Given the description of an element on the screen output the (x, y) to click on. 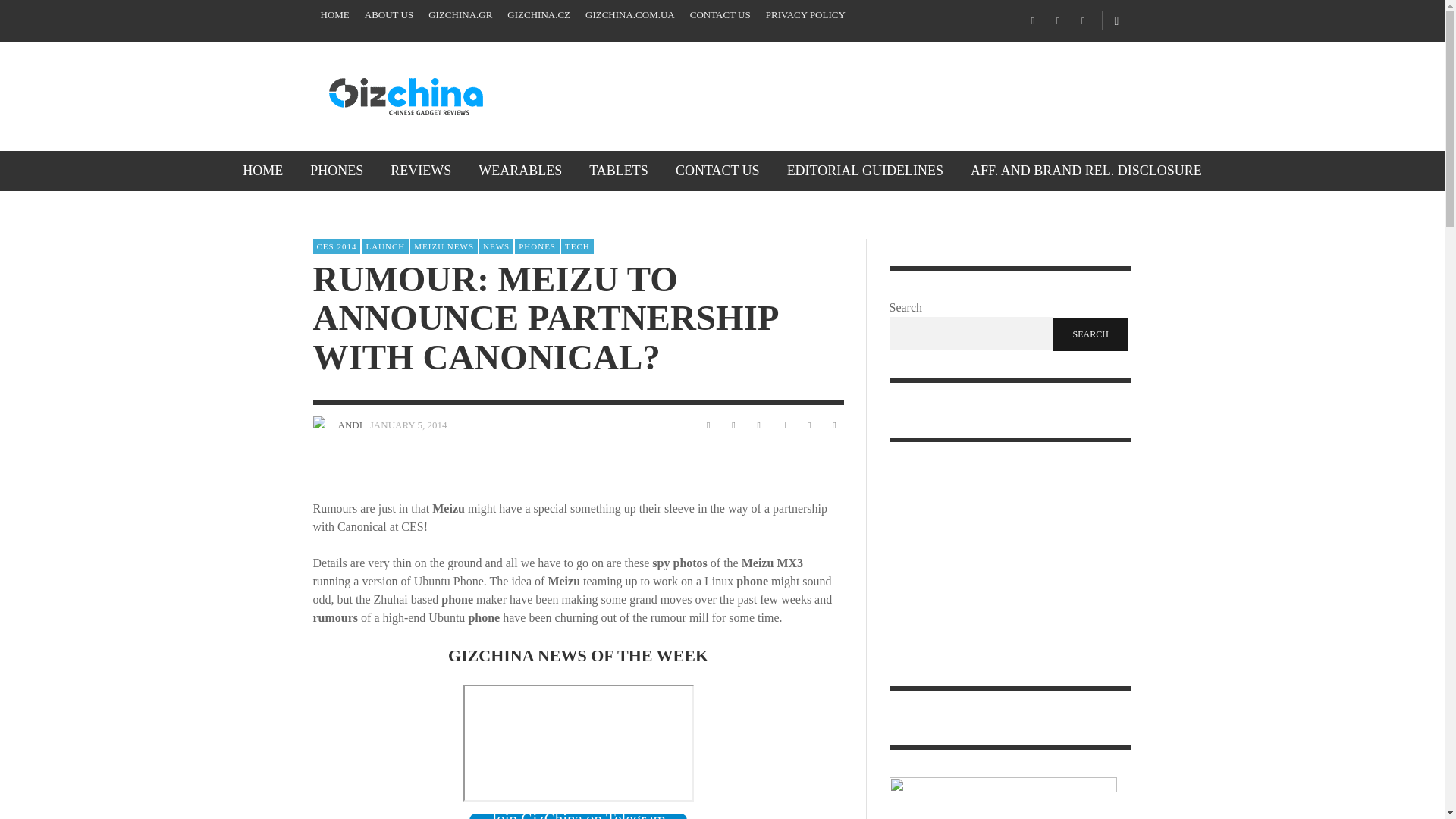
GIZCHINA.COM.UA (630, 15)
PRIVACY POLICY (805, 15)
ABOUT US (388, 15)
PHONES (337, 170)
GIZCHINA.CZ (538, 15)
HOME (262, 170)
CONTACT US (720, 15)
REVIEWS (420, 170)
GIZCHINA.GR (459, 15)
HOME (334, 15)
